Given the description of an element on the screen output the (x, y) to click on. 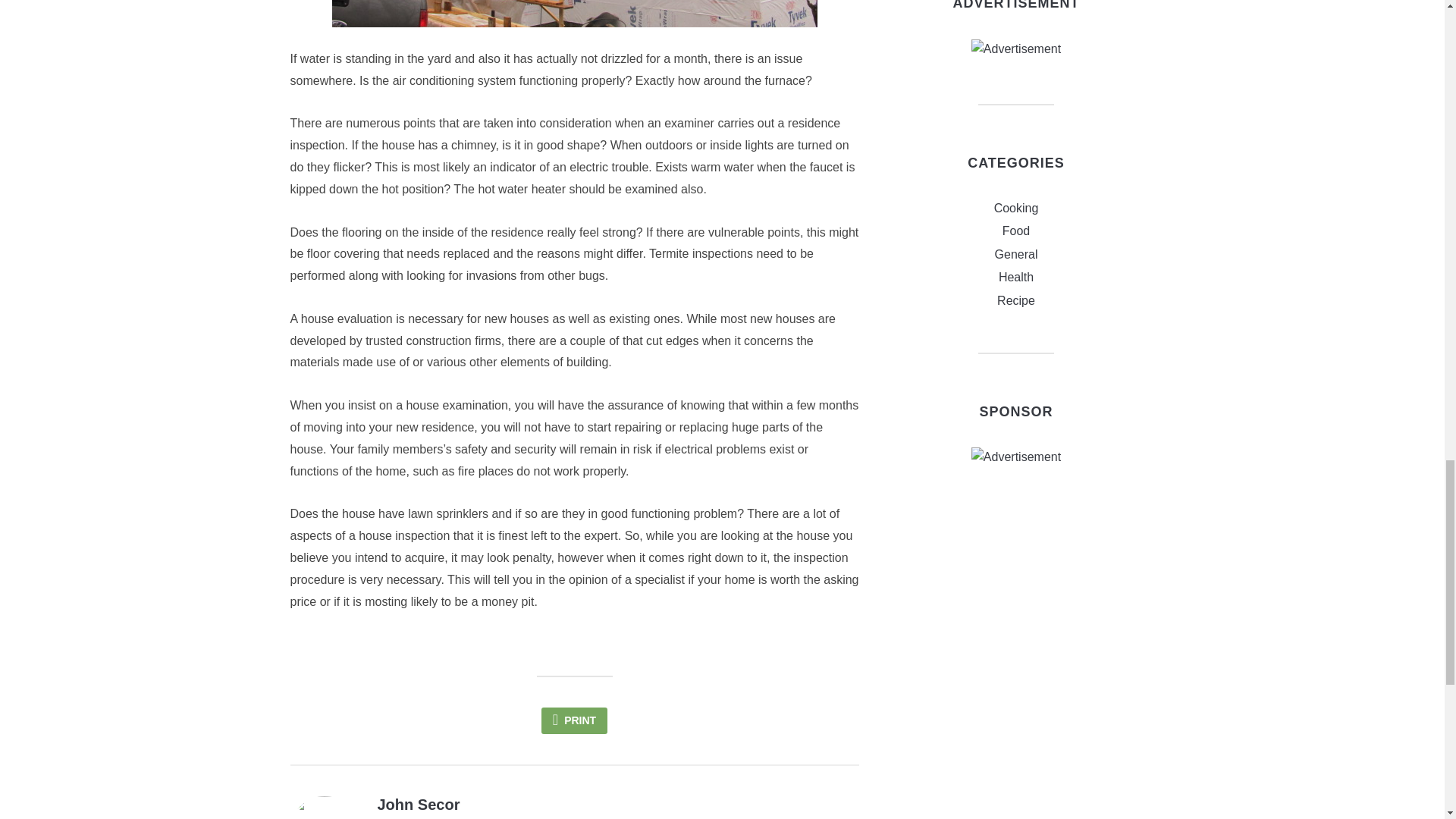
Print this Page (574, 720)
Posts by John Secor (418, 804)
PRINT (574, 720)
John Secor (418, 804)
